Given the description of an element on the screen output the (x, y) to click on. 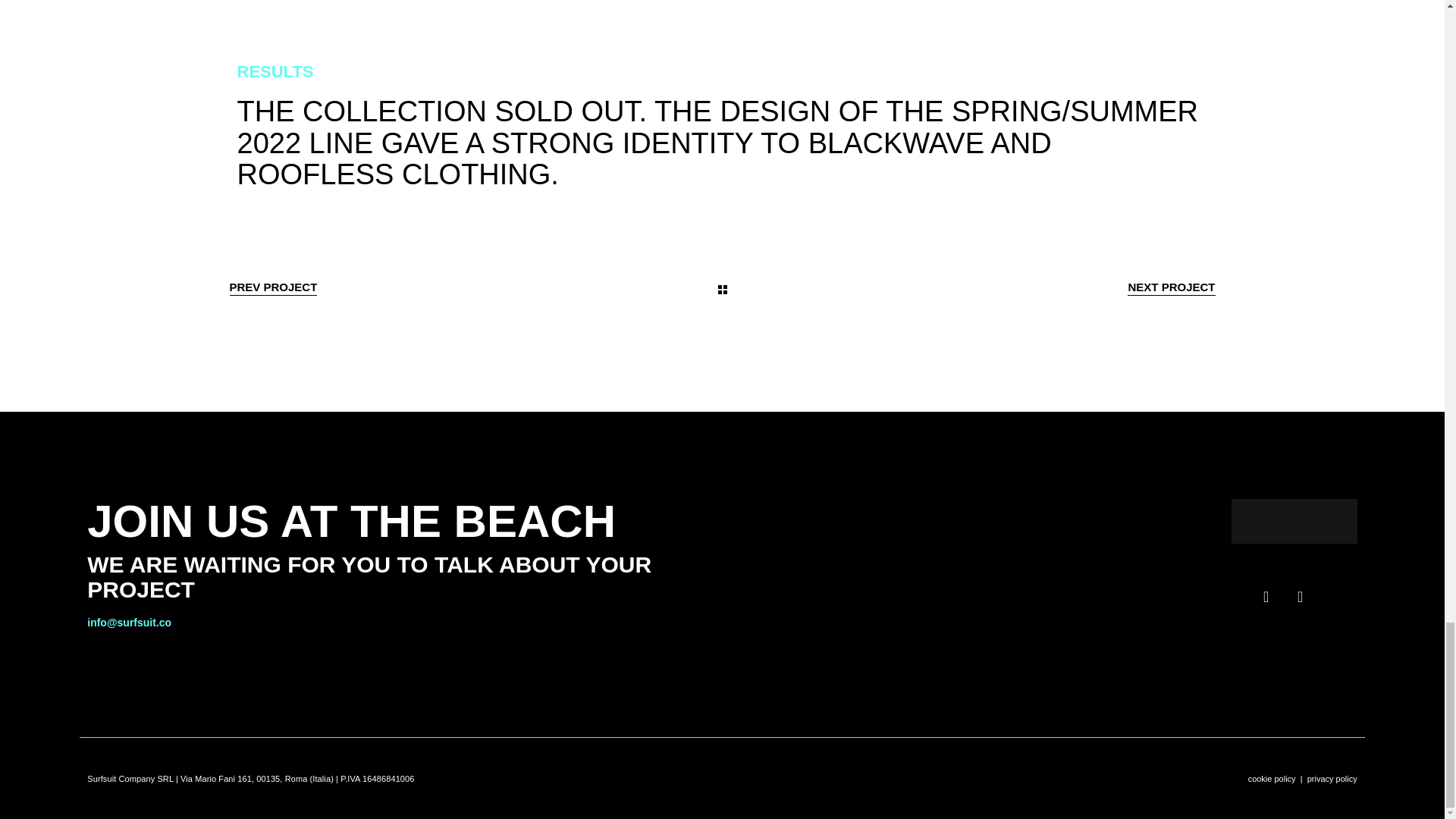
privacy policy (1331, 777)
PREV PROJECT (272, 287)
cookie policy (1271, 777)
NEXT PROJECT (1170, 287)
